Given the description of an element on the screen output the (x, y) to click on. 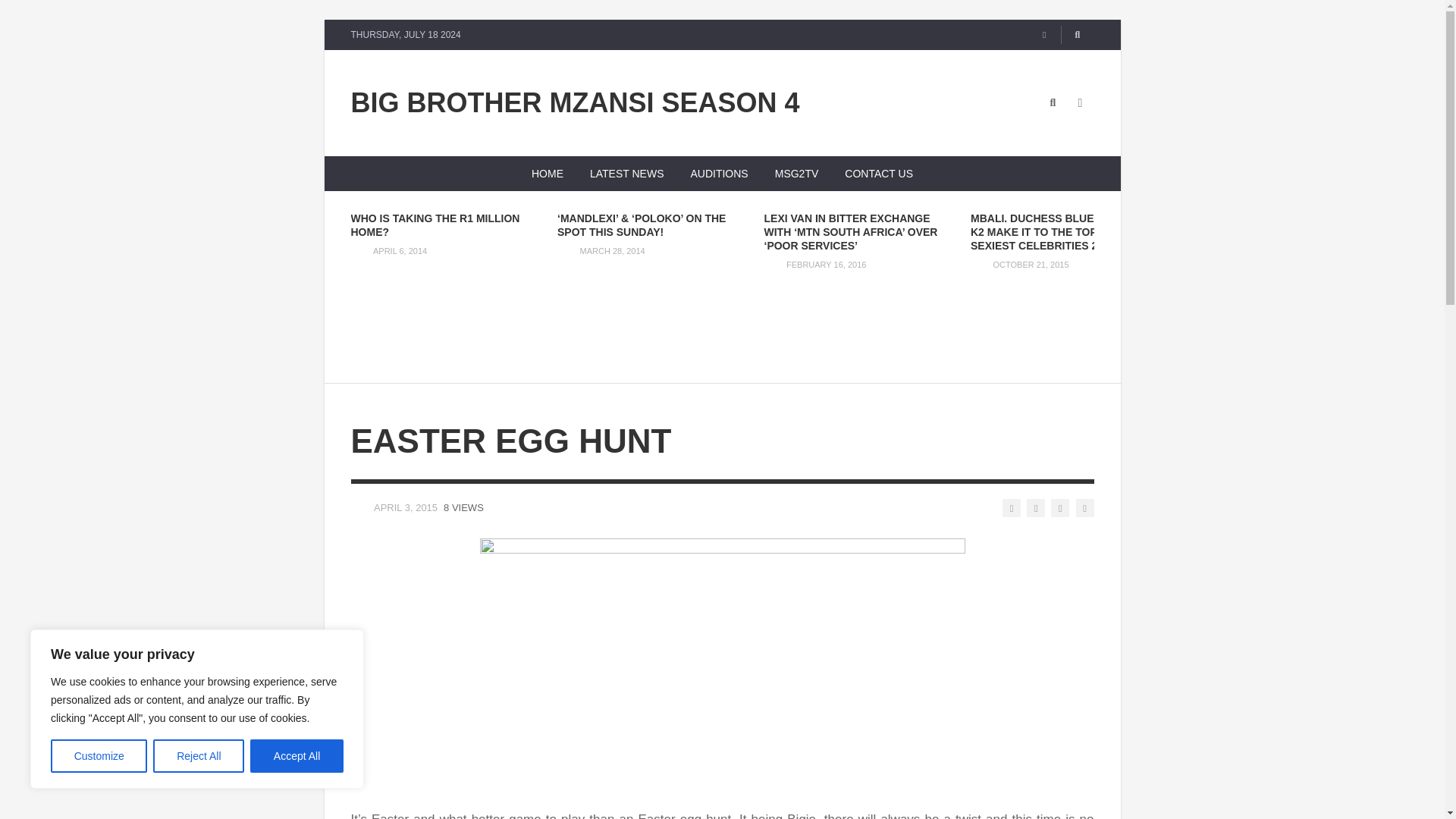
BIG BROTHER MZANSI SEASON 4 (574, 102)
Customize (98, 756)
AUDITIONS (719, 173)
HOME (547, 173)
WHO IS TAKING THE R1 MILLION HOME? (434, 225)
Accept All (296, 756)
CONTACT US (878, 173)
LATEST NEWS (626, 173)
MSG2TV (796, 173)
Reject All (198, 756)
